Given the description of an element on the screen output the (x, y) to click on. 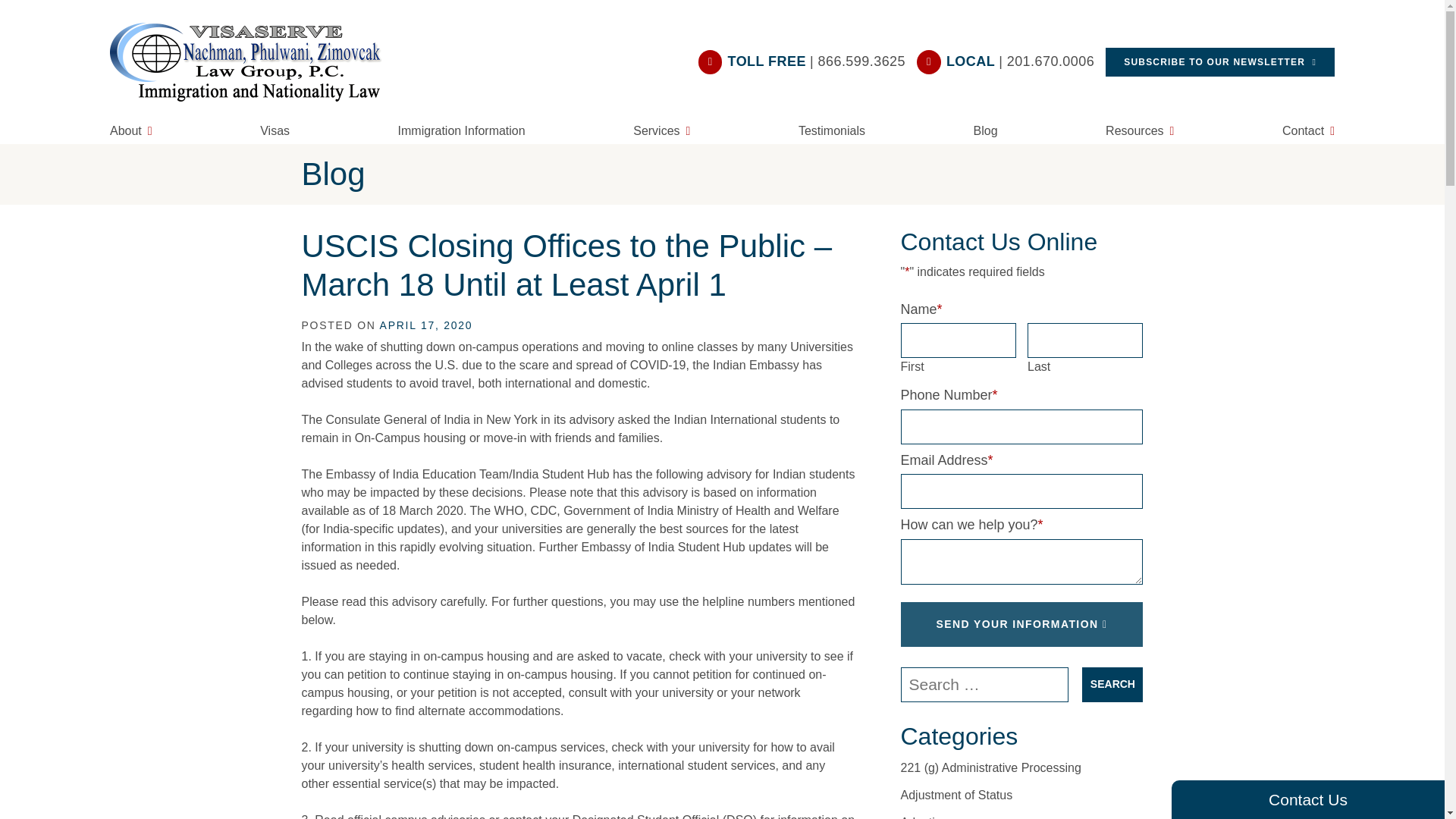
Visas (274, 128)
Blog (986, 128)
Search (1111, 684)
Resources (1139, 128)
About (130, 128)
Search for: (984, 684)
Contact (1308, 128)
Testimonials (830, 128)
Immigration Information (461, 128)
Services (661, 128)
SUBSCRIBE TO OUR NEWSLETTER (1220, 61)
Return home (254, 61)
Search (1111, 684)
